Given the description of an element on the screen output the (x, y) to click on. 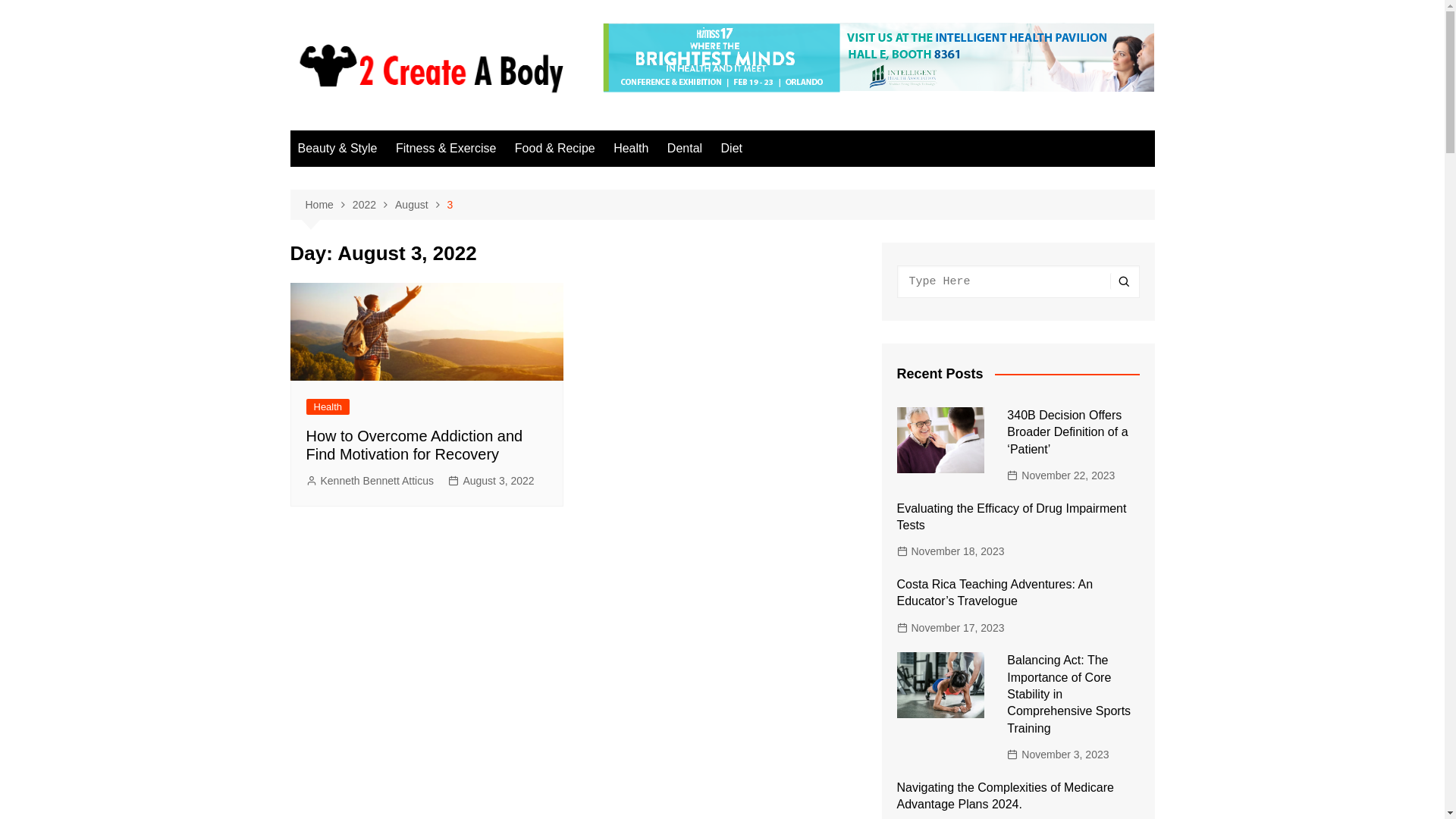
Health Element type: text (630, 148)
November 18, 2023 Element type: text (950, 550)
Fitness & Exercise Element type: text (445, 148)
2022 Element type: text (373, 204)
Health Element type: text (328, 406)
Beauty & Style Element type: text (336, 148)
3 Element type: text (450, 204)
Diet Element type: text (731, 148)
Food & Recipe Element type: text (554, 148)
Evaluating the Efficacy of Drug Impairment Tests Element type: text (1011, 516)
How to Overcome Addiction and Find Motivation for Recovery Element type: text (414, 444)
Dental Element type: text (684, 148)
Kenneth Bennett Atticus Element type: text (369, 480)
August Element type: text (421, 204)
November 17, 2023 Element type: text (950, 627)
November 22, 2023 Element type: text (1060, 475)
November 3, 2023 Element type: text (1057, 754)
August 3, 2022 Element type: text (490, 480)
Home Element type: text (327, 204)
